Given the description of an element on the screen output the (x, y) to click on. 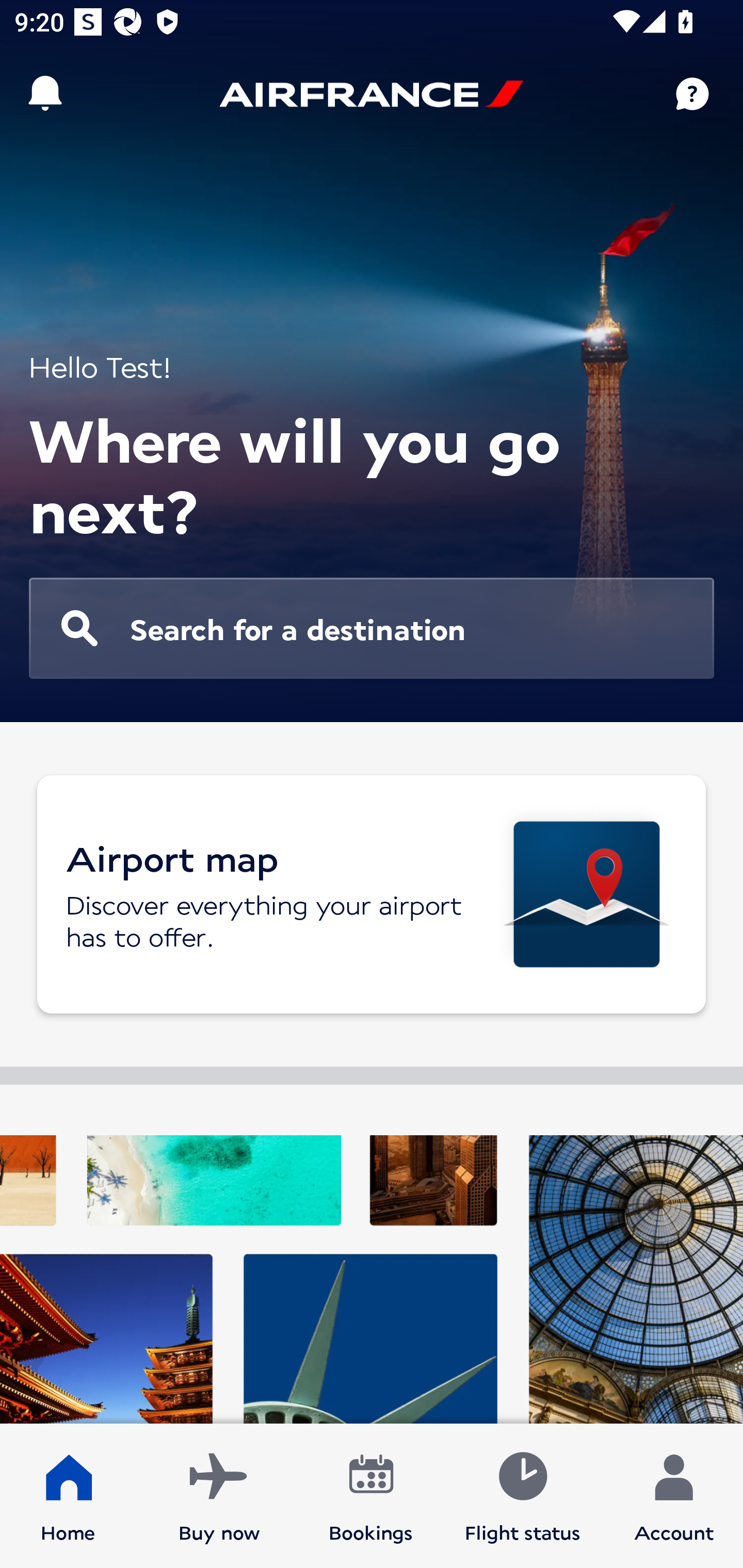
Search for a destination (371, 627)
Buy now (219, 1495)
Bookings (370, 1495)
Flight status (522, 1495)
Account (674, 1495)
